Given the description of an element on the screen output the (x, y) to click on. 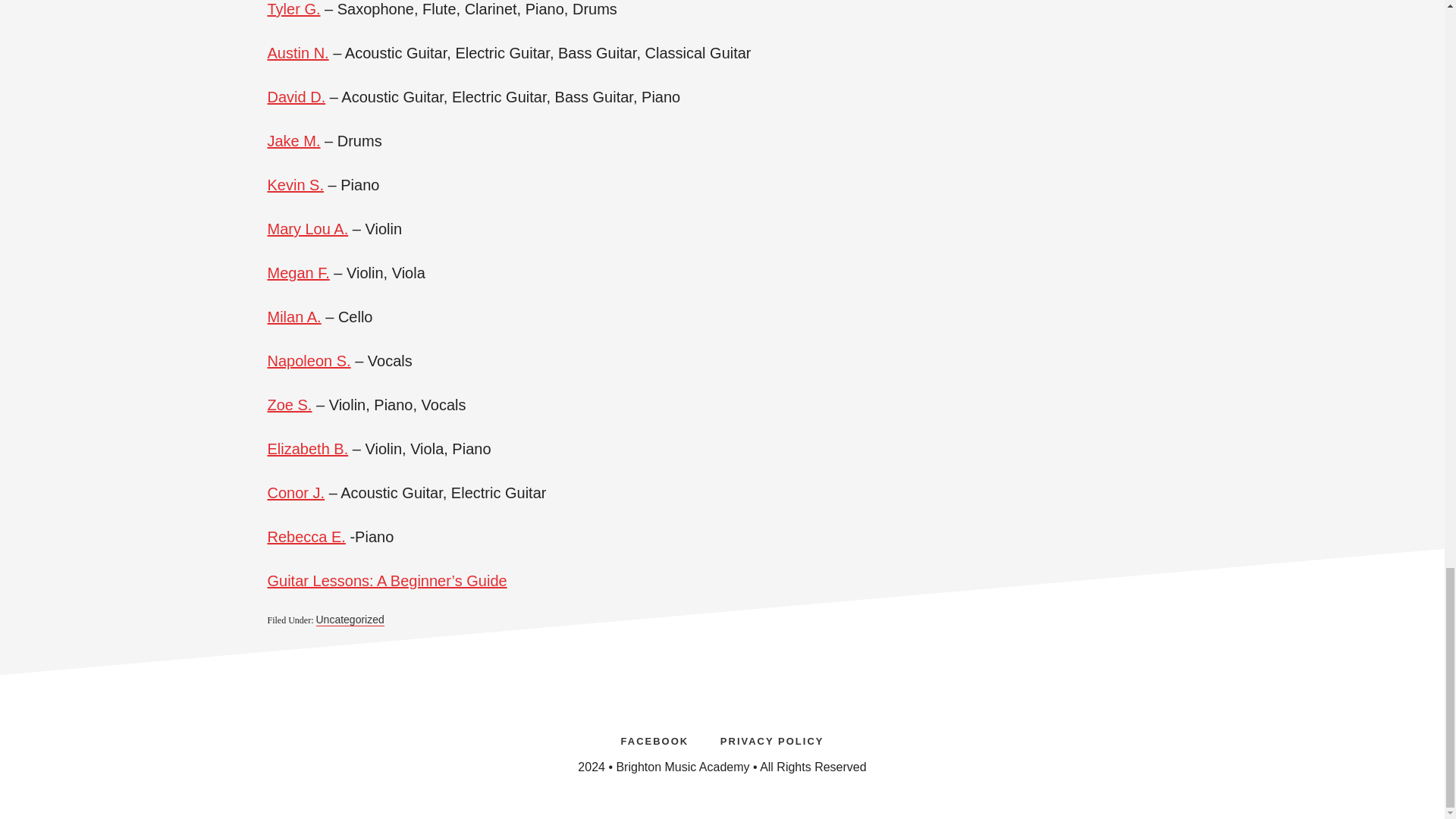
Tyler G. (293, 8)
Mary Lou A. (306, 228)
Napoleon S. (308, 360)
Elizabeth B. (306, 448)
Conor J. (295, 492)
Megan F. (297, 272)
David D. (295, 96)
Jake M. (293, 140)
Austin N. (297, 53)
Kevin S. (294, 184)
